Given the description of an element on the screen output the (x, y) to click on. 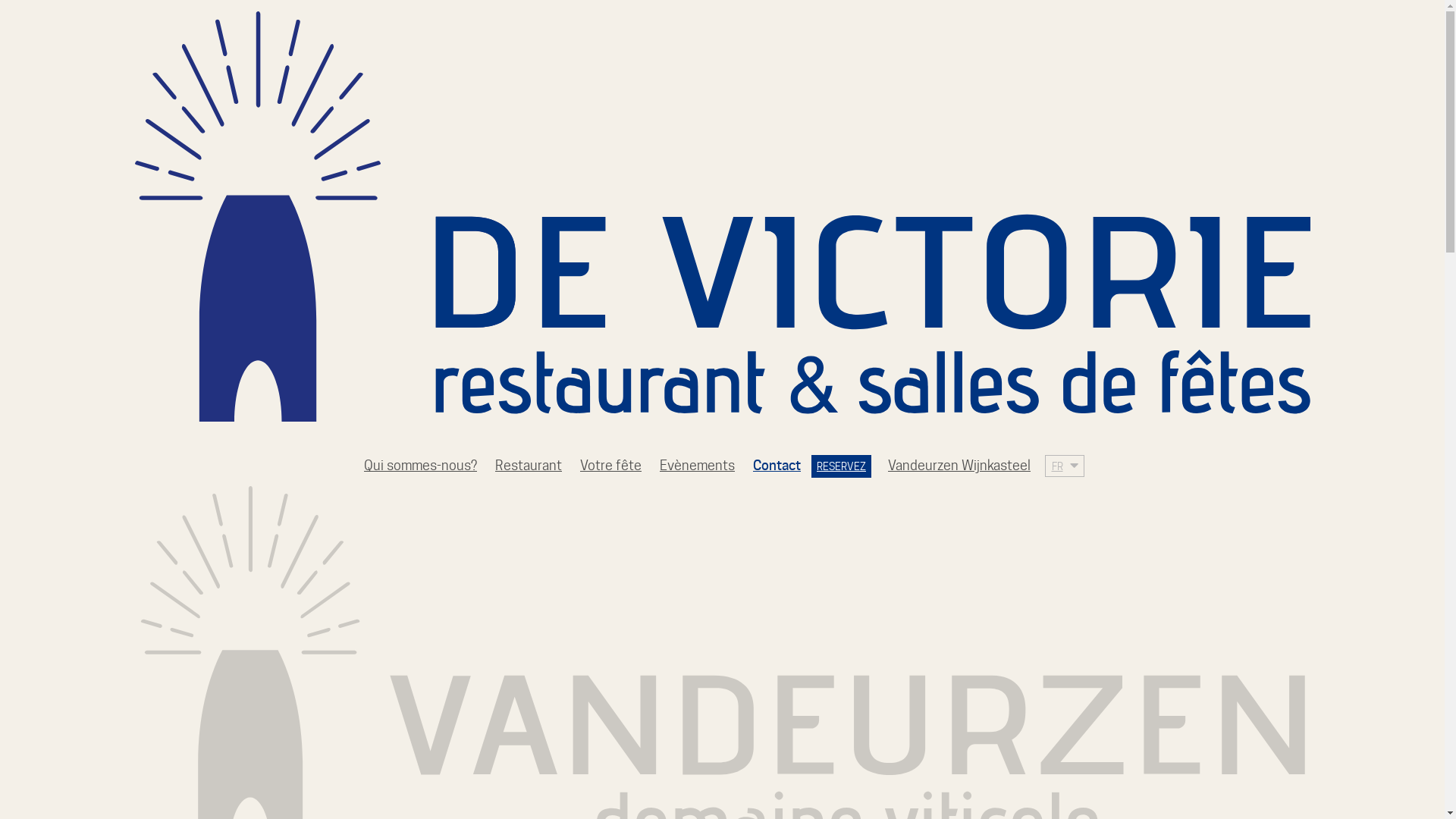
Accepter Element type: text (157, 767)
Qui sommes-nous? Element type: text (420, 464)
Vandeurzen Wijnkasteel Element type: text (959, 464)
Aller au contenu principal Element type: text (0, 0)
Contact Element type: text (776, 464)
RESERVEZ Element type: text (841, 466)
Restaurant Element type: text (528, 464)
FR Element type: text (1057, 465)
